Given the description of an element on the screen output the (x, y) to click on. 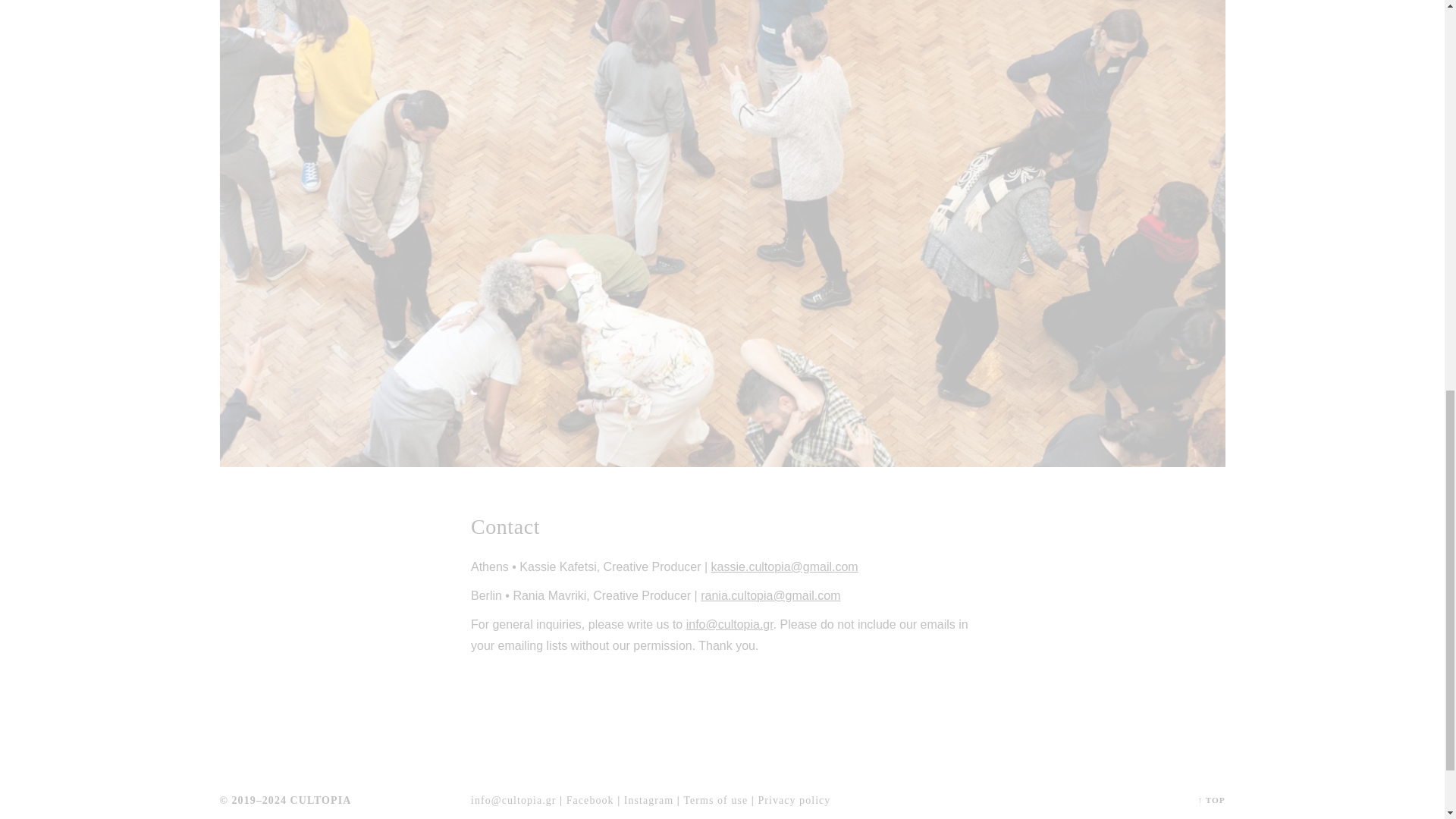
Facebook (590, 802)
Privacy policy (793, 802)
Instagram (648, 802)
Terms of use (715, 802)
